Given the description of an element on the screen output the (x, y) to click on. 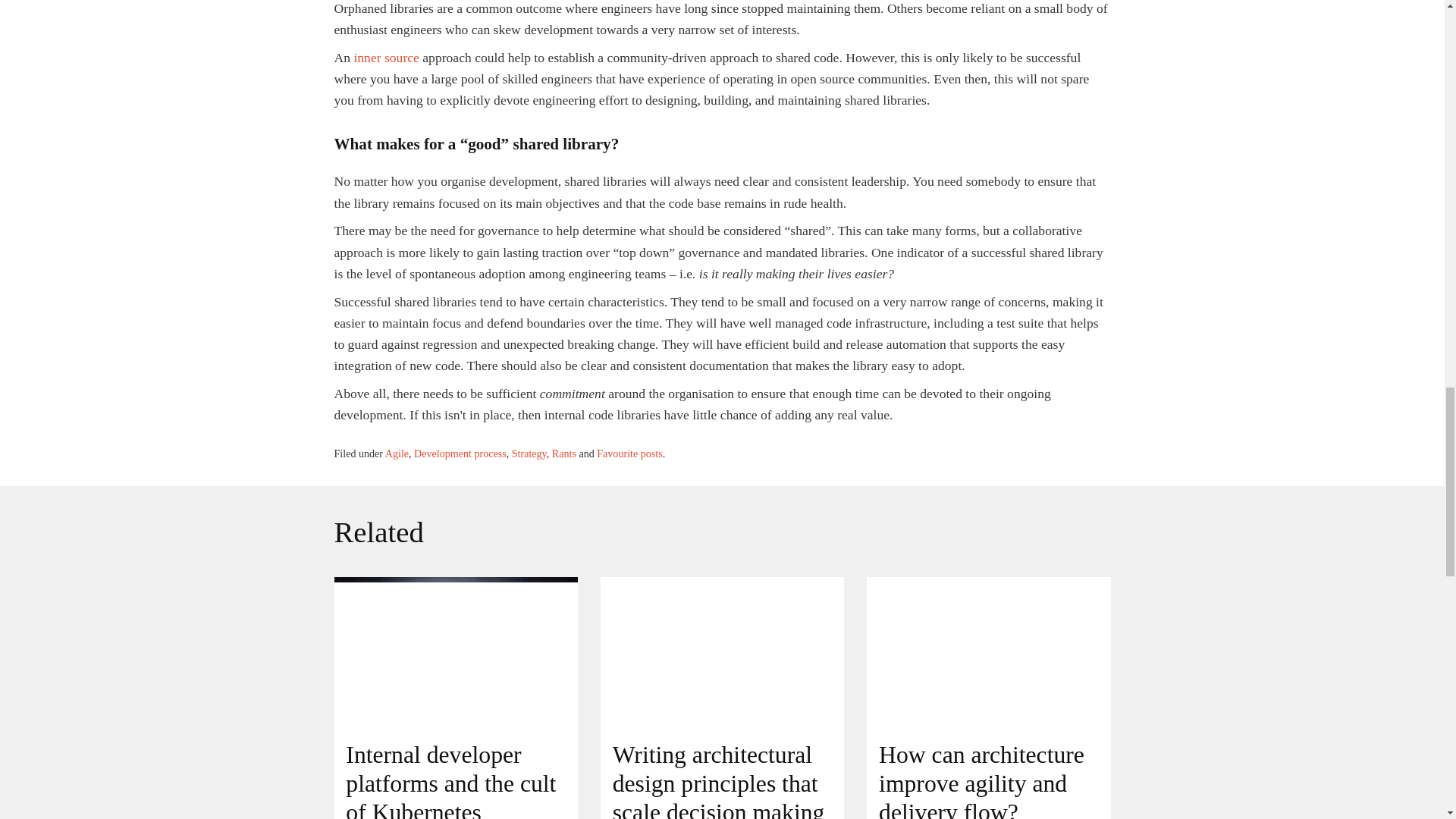
Favourite posts (629, 453)
Development process (459, 453)
Strategy (529, 453)
Agile (397, 453)
How can architecture improve agility and delivery flow? (987, 698)
inner source (386, 57)
Rants (563, 453)
Internal developer platforms and the cult of Kubernetes (454, 698)
